Given the description of an element on the screen output the (x, y) to click on. 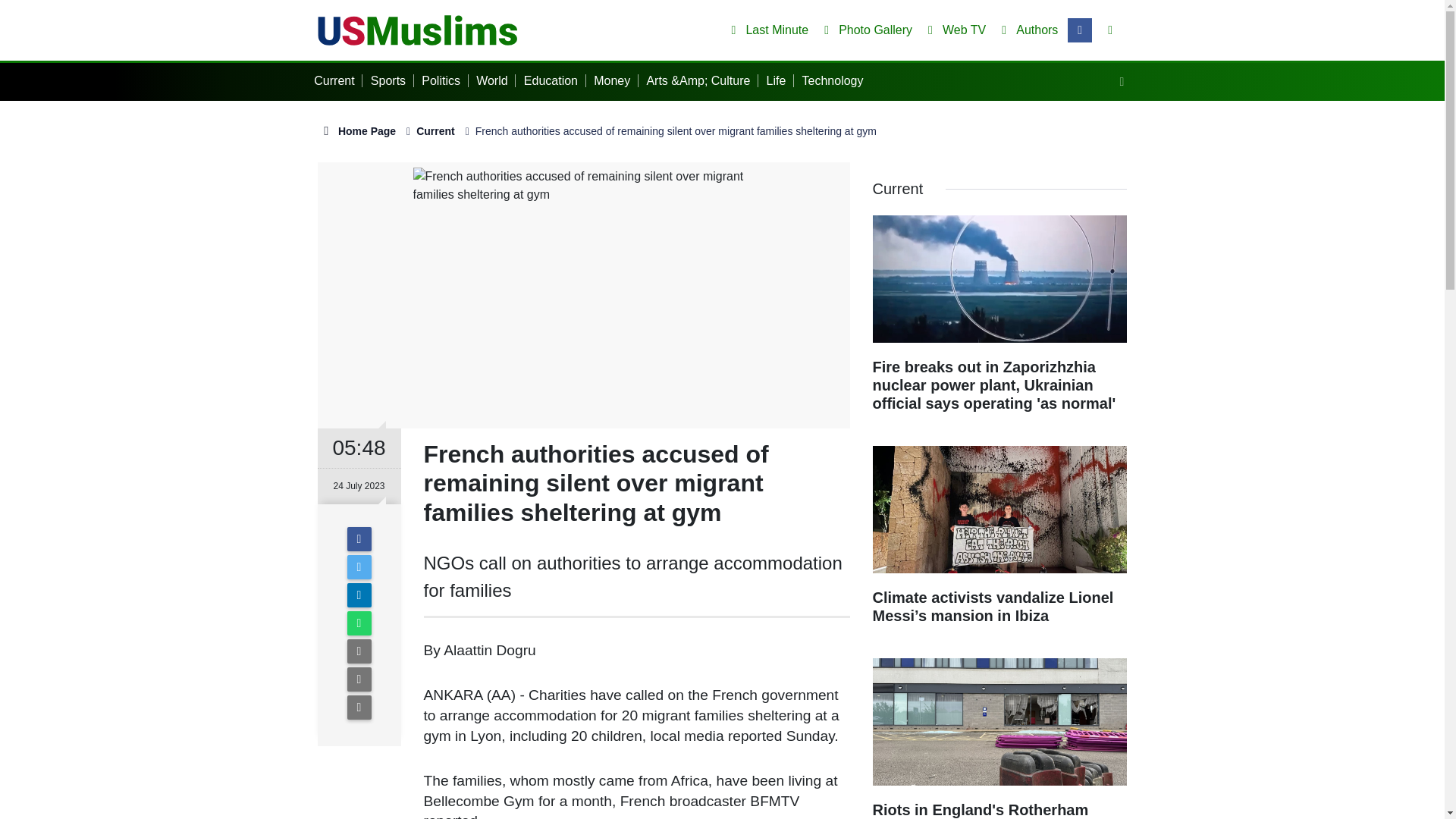
Money (616, 80)
US Muslims (416, 29)
Facebook (359, 539)
Money (616, 80)
Photo Gallery (865, 29)
Current (338, 80)
Education (555, 80)
Follow with Facebook (1079, 30)
Technology (836, 80)
